Given the description of an element on the screen output the (x, y) to click on. 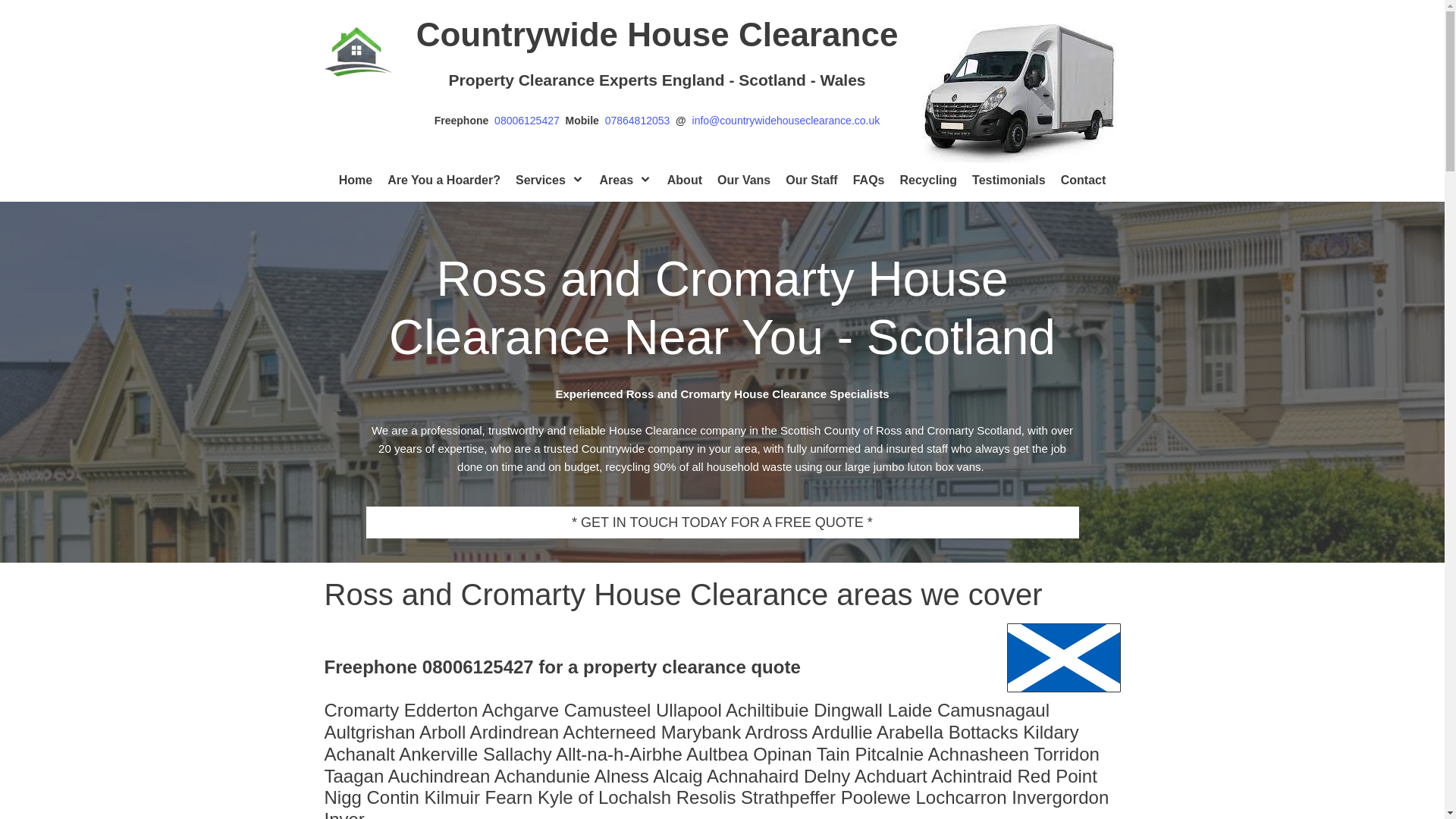
Home (355, 179)
Services (550, 179)
08006125427   (529, 120)
Are You a Hoarder? (443, 179)
07864812053   (640, 120)
